Given the description of an element on the screen output the (x, y) to click on. 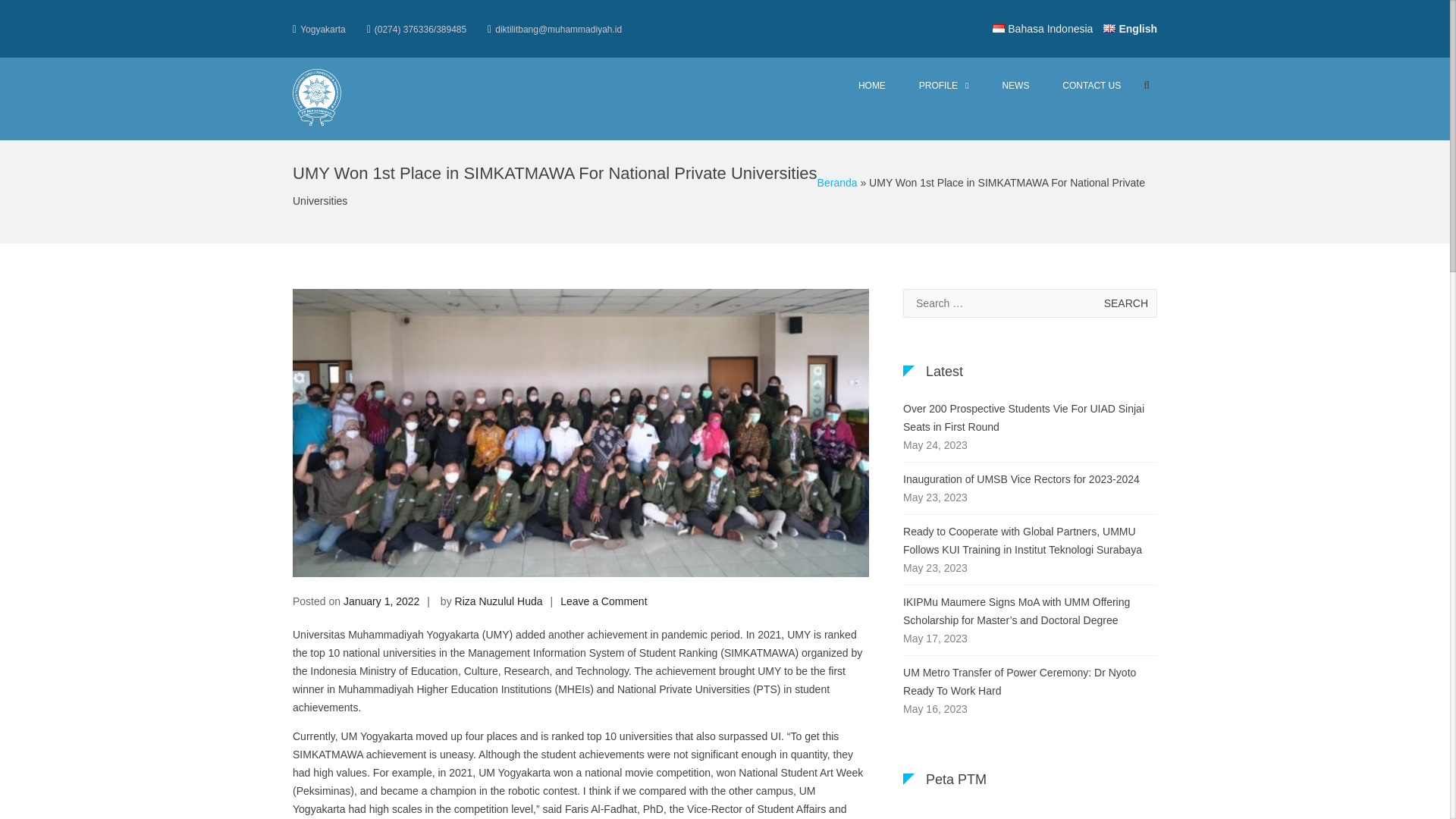
Bahasa Indonesia (1042, 28)
English (1130, 28)
Riza Nuzulul Huda (498, 601)
Search (1107, 167)
PROFILE (944, 86)
Search (1125, 303)
CONTACT US (1090, 86)
Beranda (836, 182)
NEWS (1015, 86)
January 1, 2022 (381, 601)
HOME (872, 86)
Search (1125, 303)
